Given the description of an element on the screen output the (x, y) to click on. 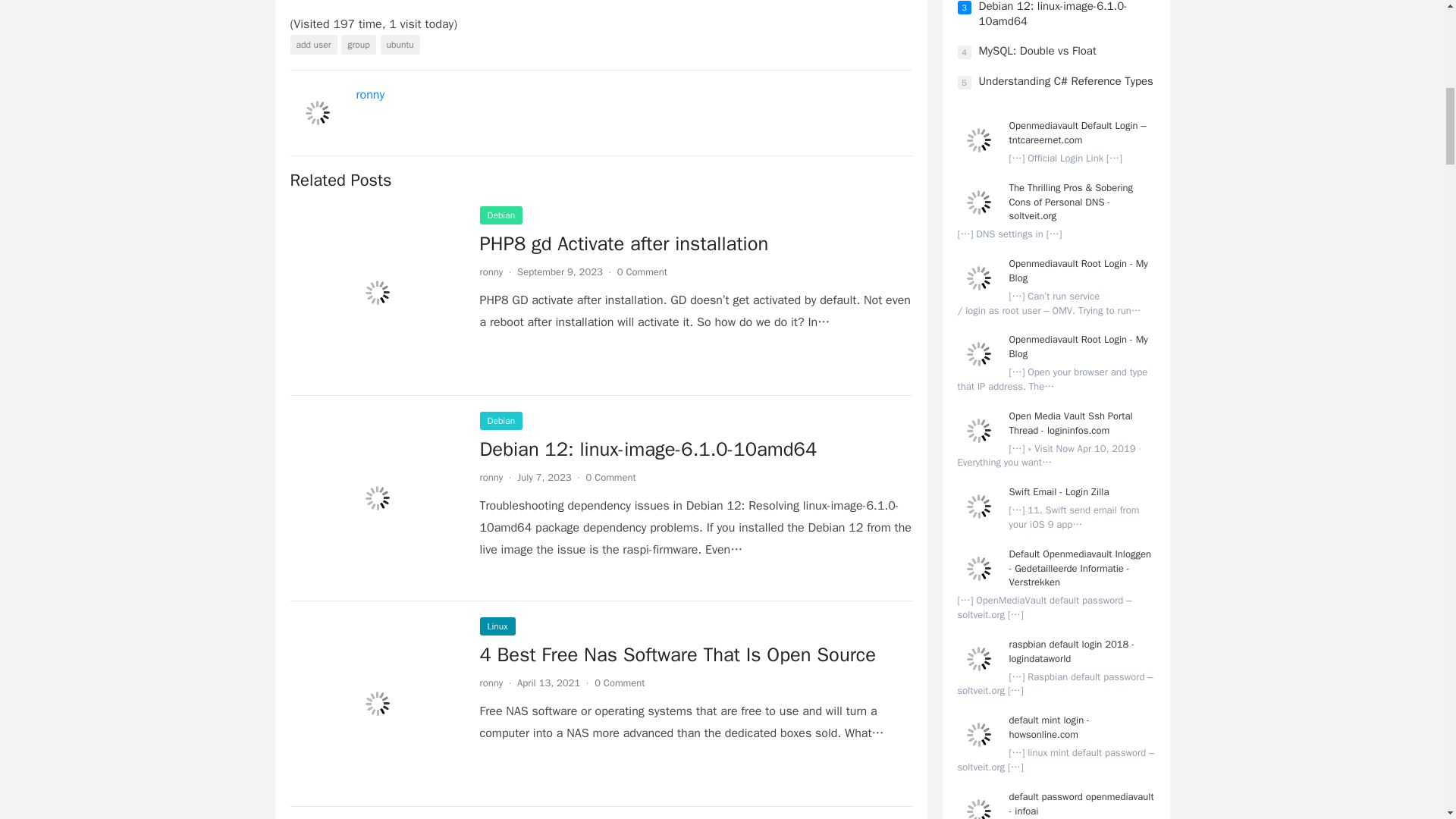
ronny (370, 94)
add user (312, 44)
group (357, 44)
Posts by ronny (490, 477)
ronny (490, 271)
Posts by ronny (490, 271)
Posts by ronny (490, 682)
PHP8 gd Activate after installation (623, 243)
ubuntu (400, 44)
Debian (500, 215)
